Given the description of an element on the screen output the (x, y) to click on. 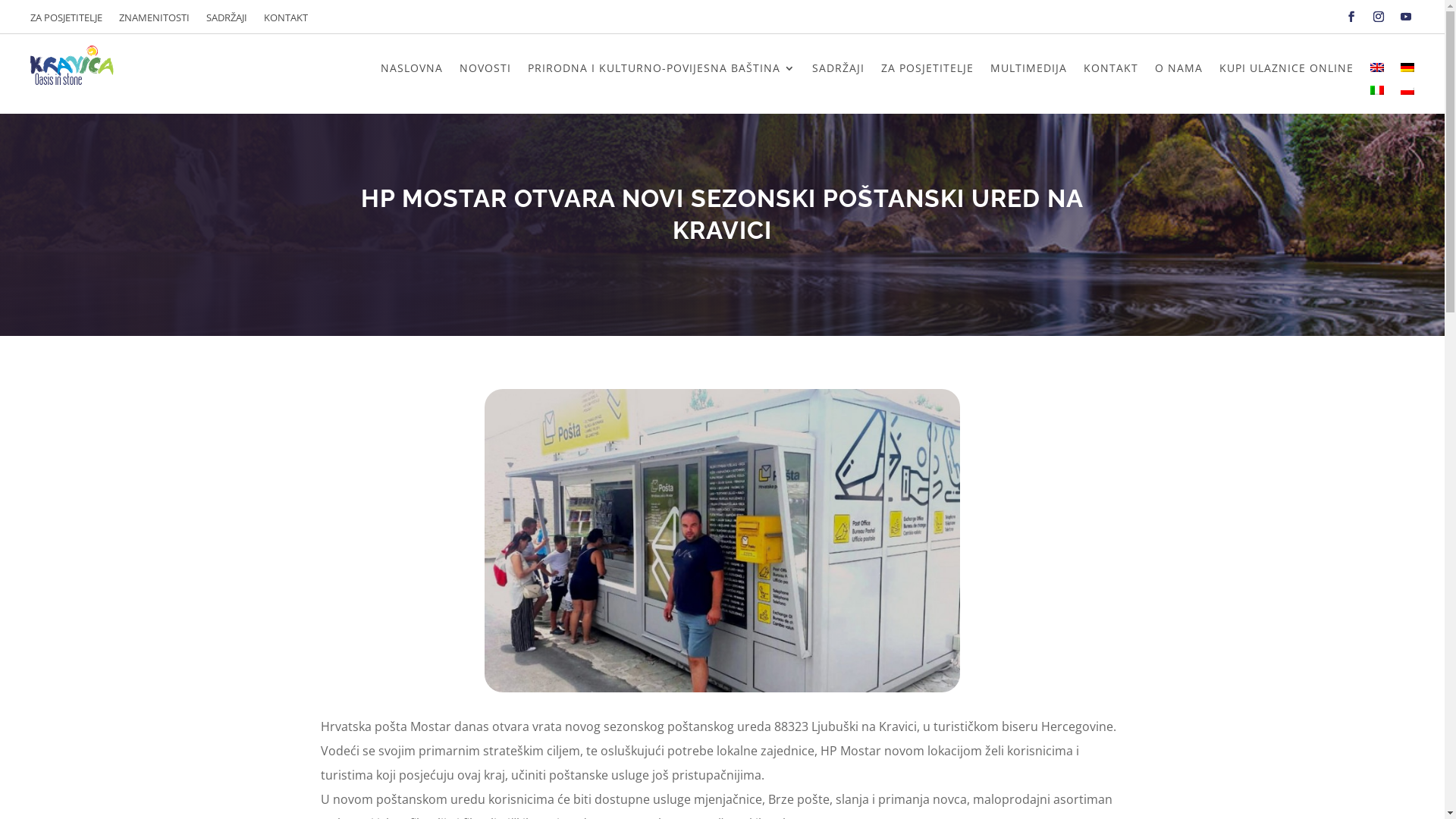
NASLOVNA Element type: text (411, 70)
69b5f85da08d181d48515c6d41e3e0a5_M Element type: hover (722, 540)
ZA POSJETITELJE Element type: text (66, 20)
Follow on Youtube Element type: hover (1405, 16)
KONTAKT Element type: text (285, 20)
KONTAKT Element type: text (1110, 70)
ZNAMENITOSTI Element type: text (154, 20)
Kravica logo Element type: hover (71, 64)
ZA POSJETITELJE Element type: text (927, 70)
KUPI ULAZNICE ONLINE Element type: text (1286, 70)
O NAMA Element type: text (1178, 70)
MULTIMEDIJA Element type: text (1028, 70)
Follow on Instagram Element type: hover (1378, 16)
NOVOSTI Element type: text (485, 70)
Follow on Facebook Element type: hover (1350, 16)
